Given the description of an element on the screen output the (x, y) to click on. 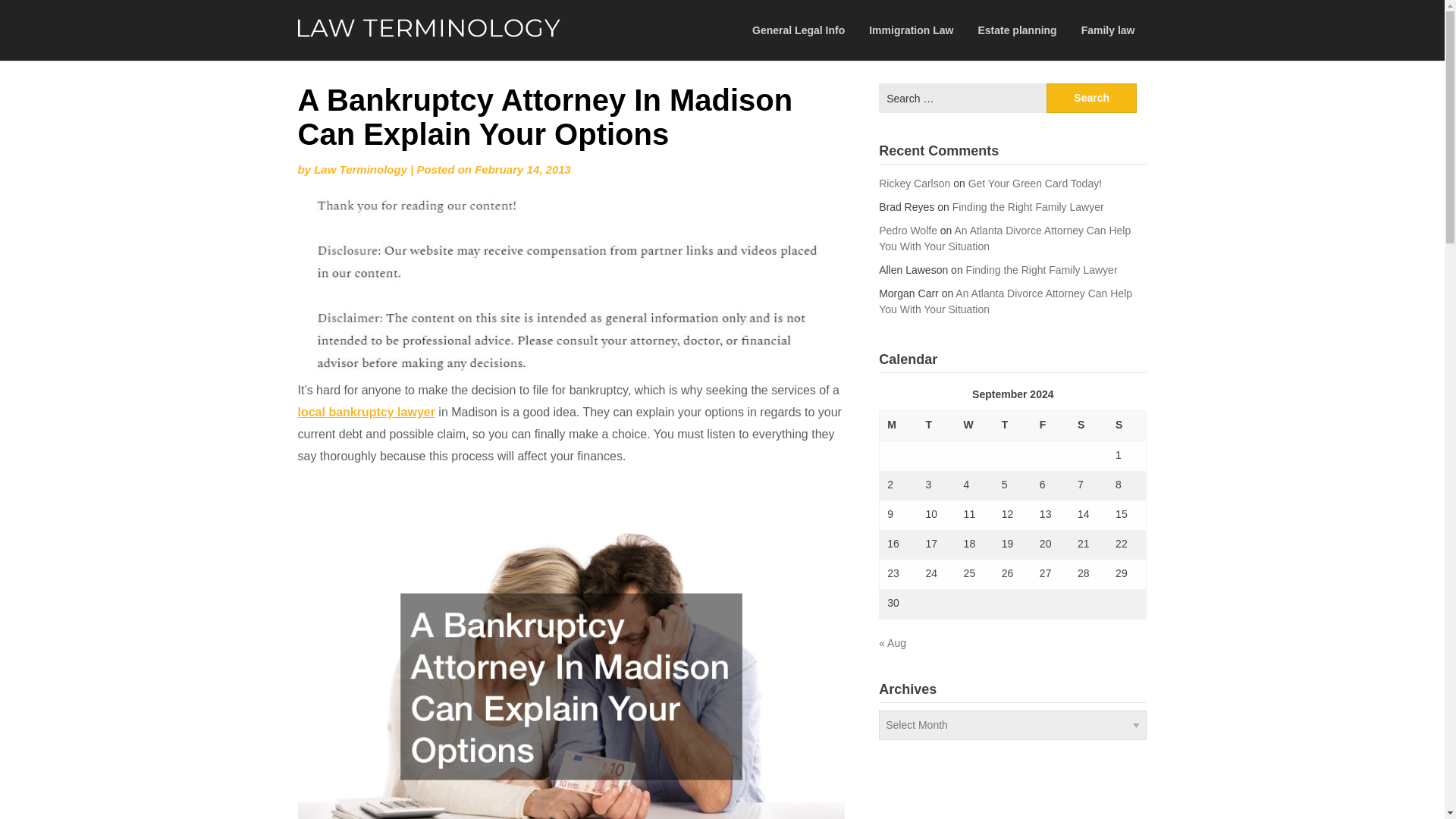
Estate planning (1016, 30)
Law Terminology (360, 169)
Immigration Law (911, 30)
February 14, 2013 (522, 169)
Rickey Carlson (914, 183)
local bankruptcy lawyer (365, 411)
Search (1091, 98)
Pedro Wolfe (908, 230)
Finding the Right Family Lawyer (1042, 269)
Saturday (1089, 426)
